Given the description of an element on the screen output the (x, y) to click on. 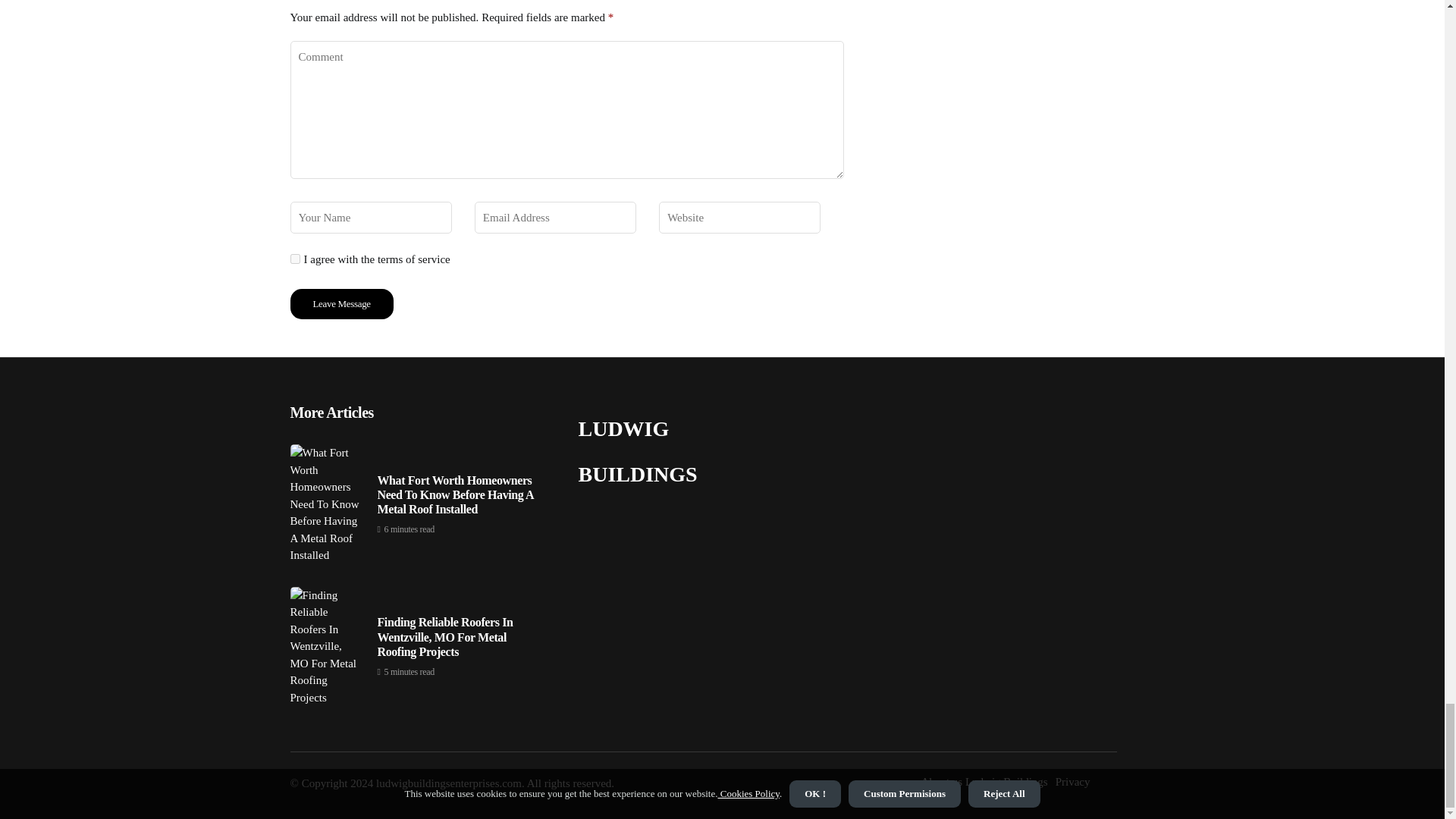
Leave Message (341, 304)
yes (294, 258)
Leave Message (341, 304)
